Given the description of an element on the screen output the (x, y) to click on. 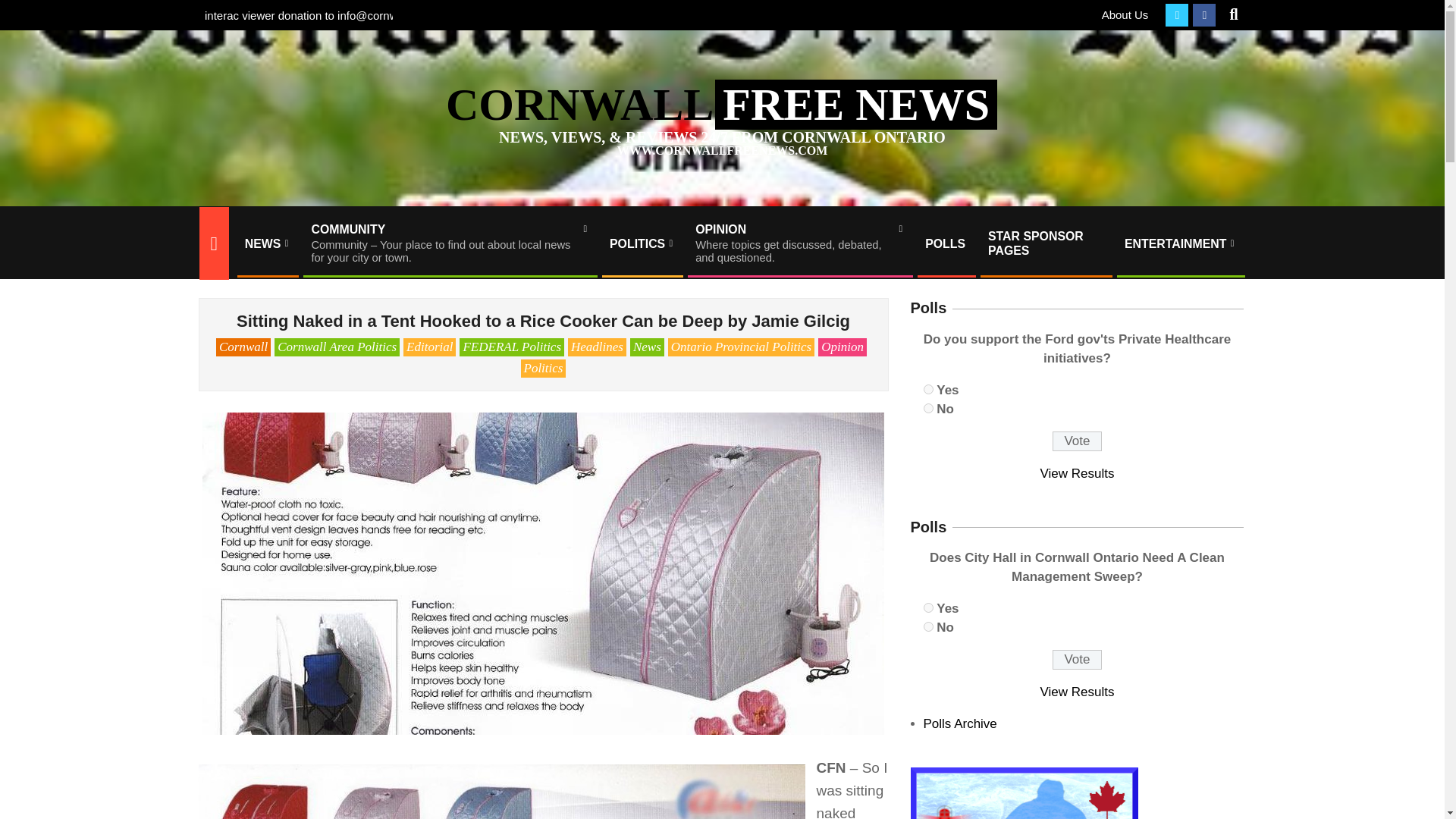
   Vote    (1076, 659)
View Results Of This Poll (1078, 473)
STAR SPONSOR PAGES (1044, 243)
NEWS (799, 243)
1771 (265, 243)
   Vote    (928, 626)
1770 (1076, 441)
POLLS (928, 607)
ENTERTAINMENT (945, 243)
1776 (1179, 243)
About Us (928, 388)
POLITICS (1125, 14)
1777 (641, 243)
Search (928, 408)
